Given the description of an element on the screen output the (x, y) to click on. 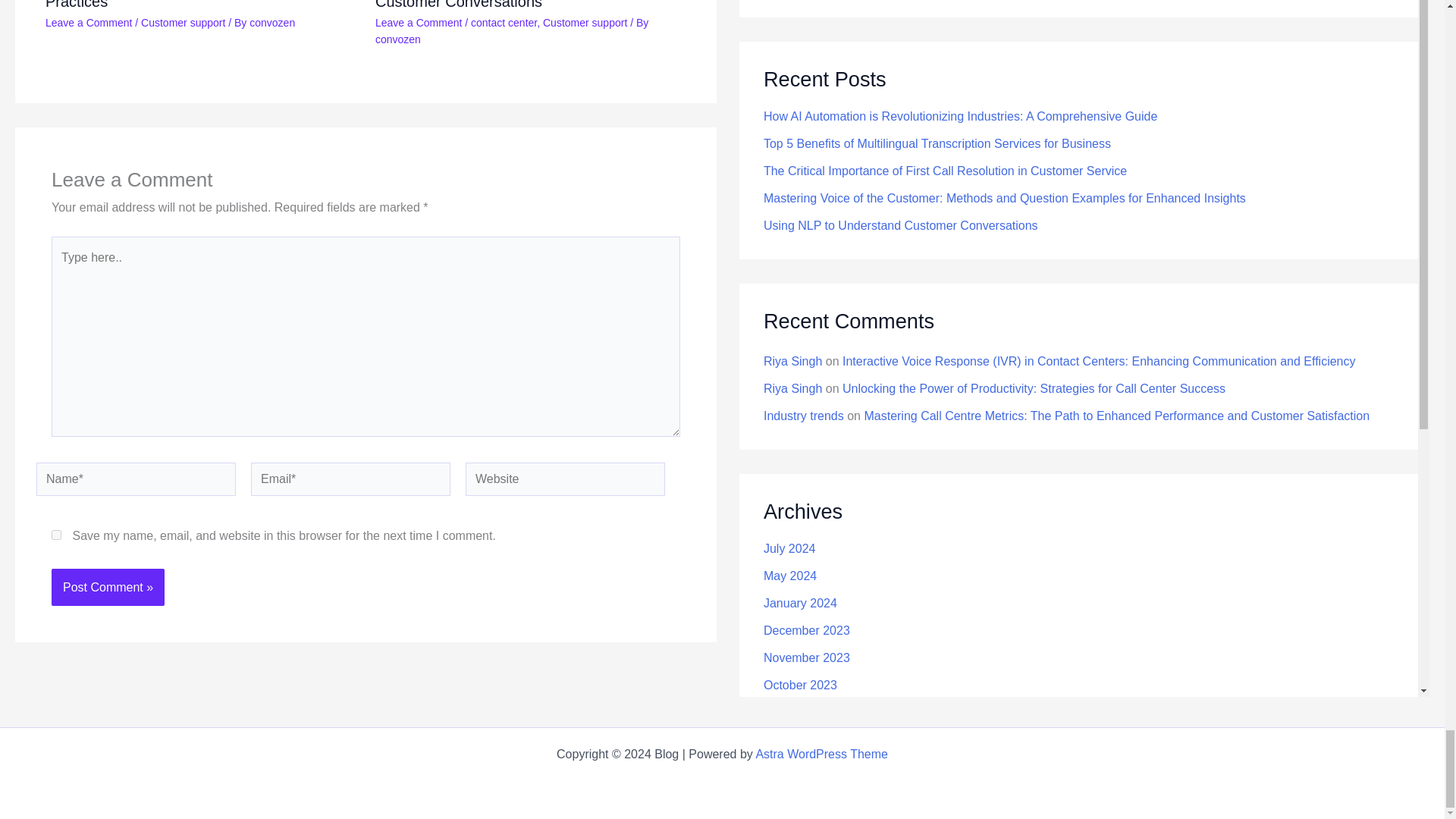
View all posts by convozen (271, 22)
View all posts by convozen (397, 39)
yes (55, 534)
